Given the description of an element on the screen output the (x, y) to click on. 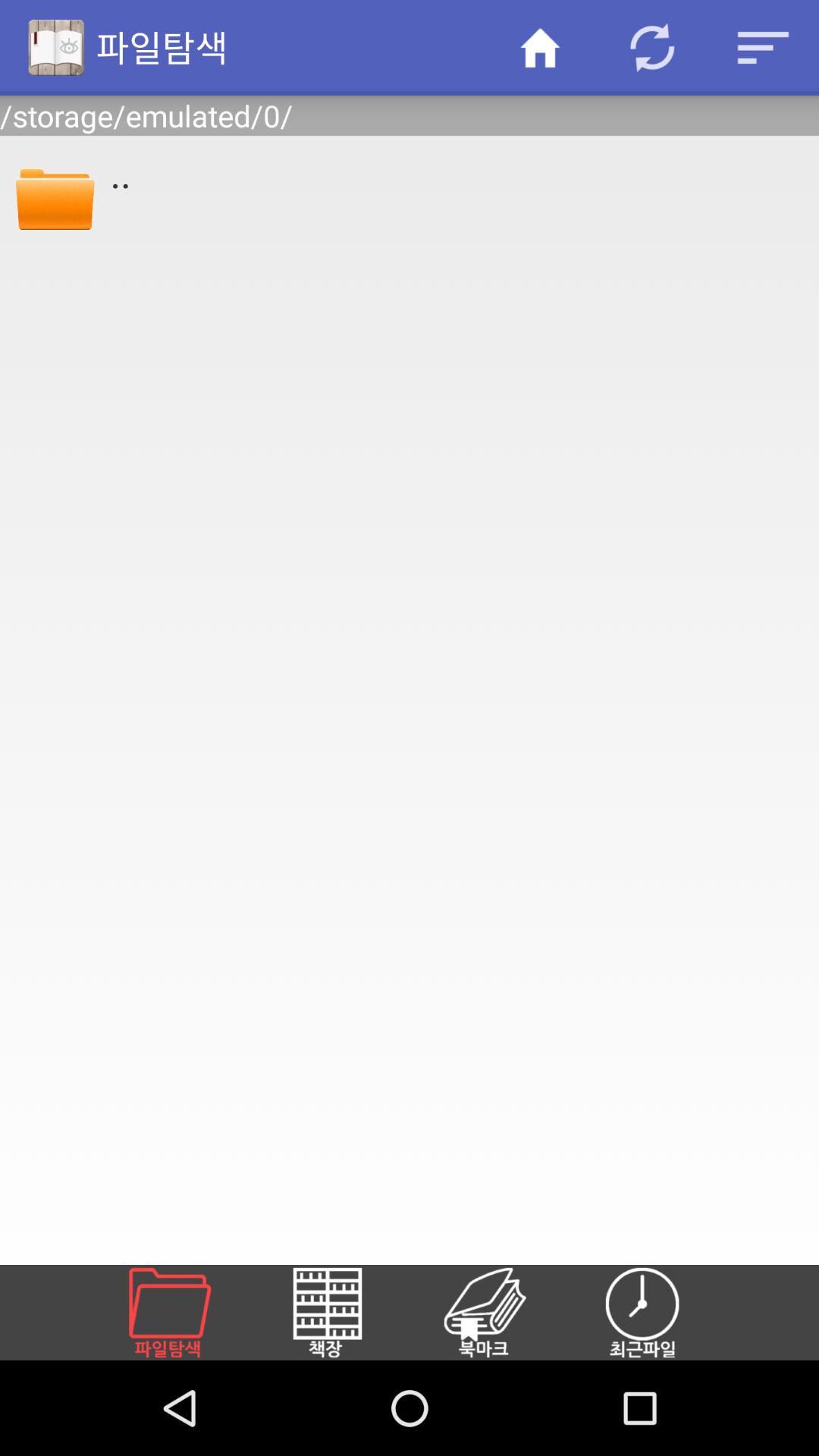
open the icon below .. (660, 1312)
